Given the description of an element on the screen output the (x, y) to click on. 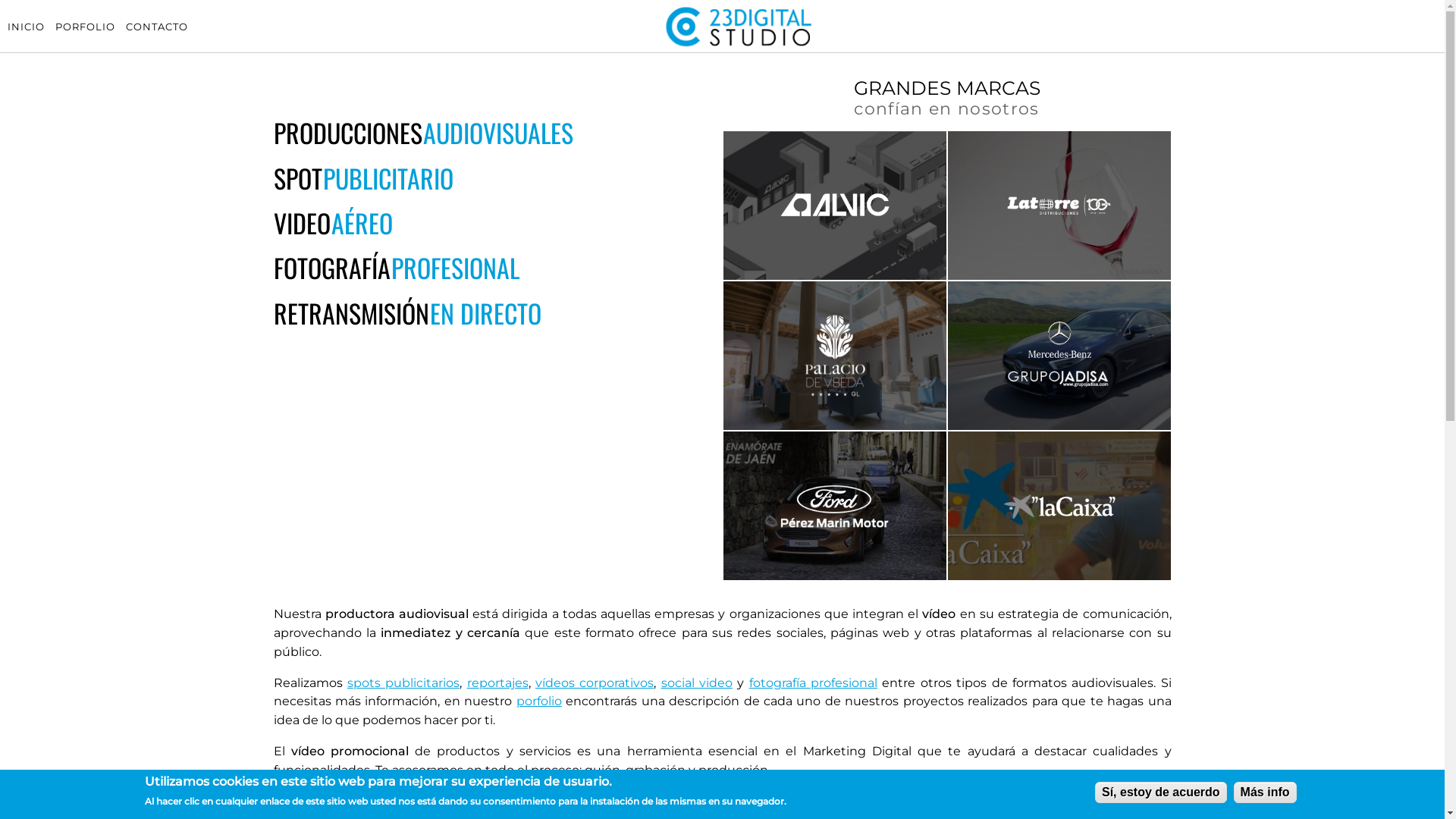
Pasar al contenido principal Element type: text (0, 0)
reportajes Element type: text (497, 682)
spots publicitarios Element type: text (403, 682)
Ir a la portada Element type: hover (739, 44)
PRODUCCIONES AUDIOVISUALES Element type: text (422, 132)
CONTACTO Element type: text (156, 25)
social video Element type: text (696, 682)
SPOT PUBLICITARIO Element type: text (362, 178)
porfolio Element type: text (538, 700)
PORFOLIO Element type: text (85, 25)
INICIO Element type: text (25, 25)
